Given the description of an element on the screen output the (x, y) to click on. 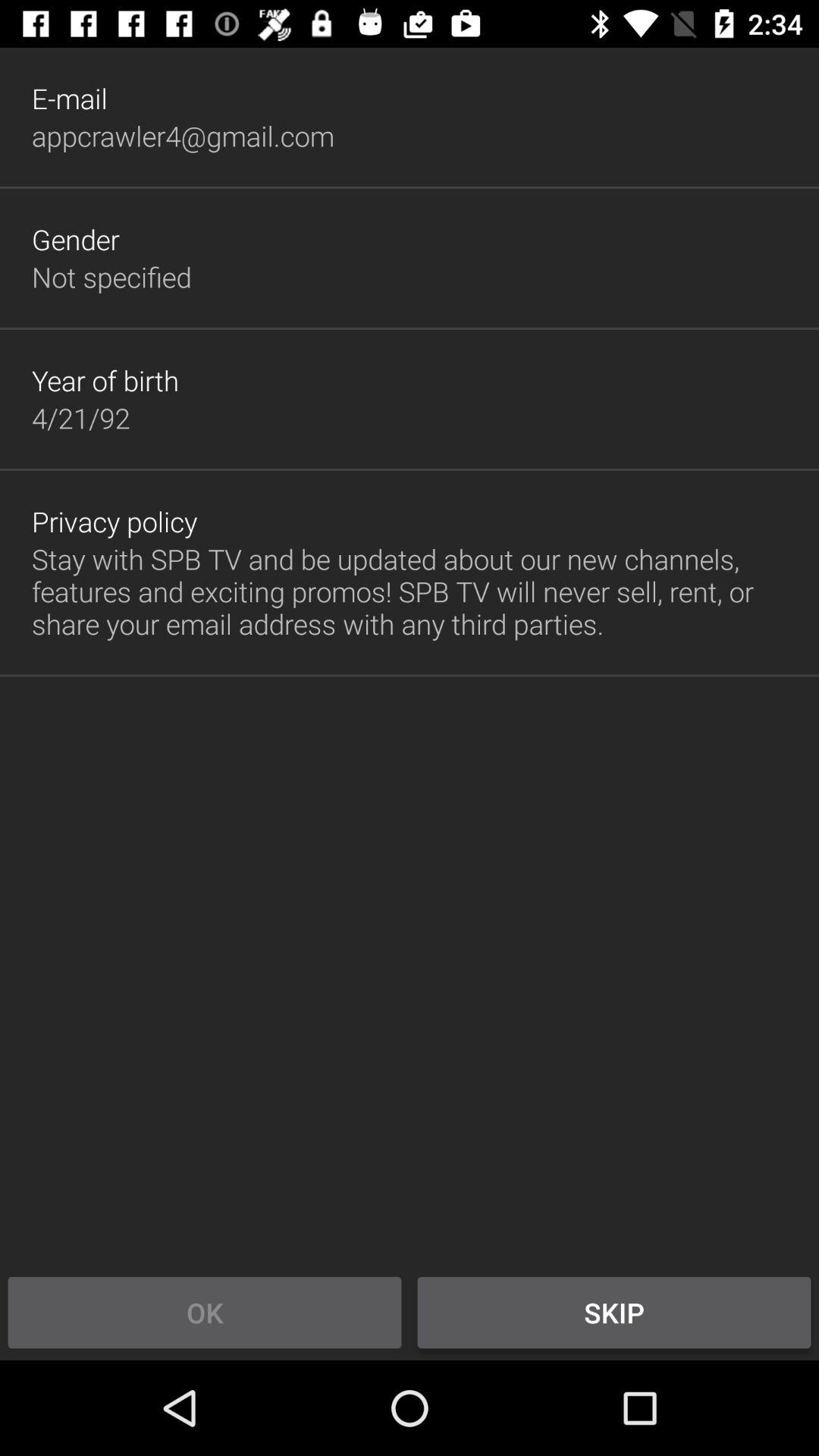
swipe to e-mail item (69, 98)
